Given the description of an element on the screen output the (x, y) to click on. 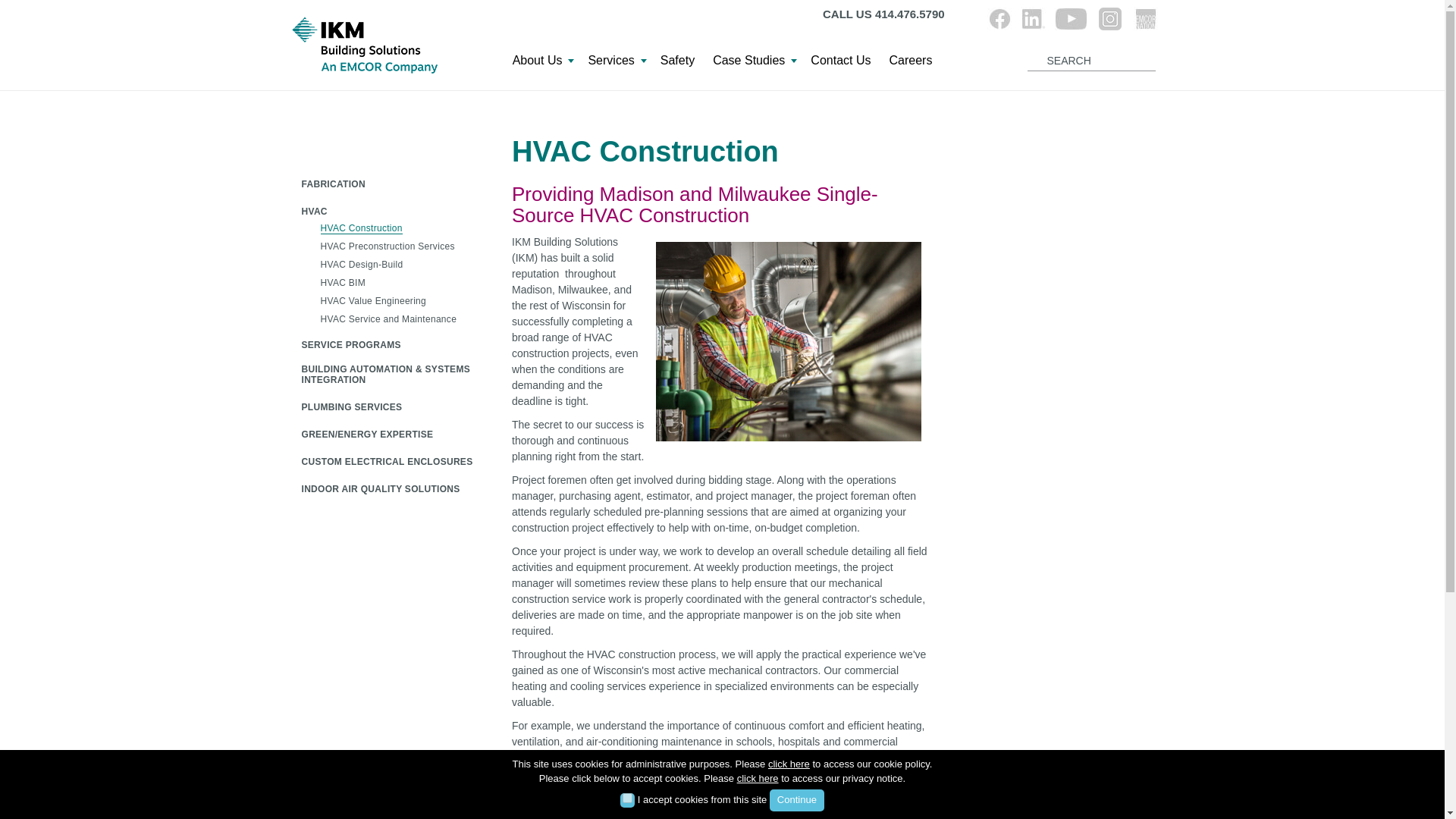
on (627, 798)
Case Studies (752, 64)
About Us (541, 64)
Contact Us (840, 64)
Continue (797, 800)
Services (614, 64)
Careers (909, 64)
414.476.5790 (909, 13)
Safety (676, 64)
